Given the description of an element on the screen output the (x, y) to click on. 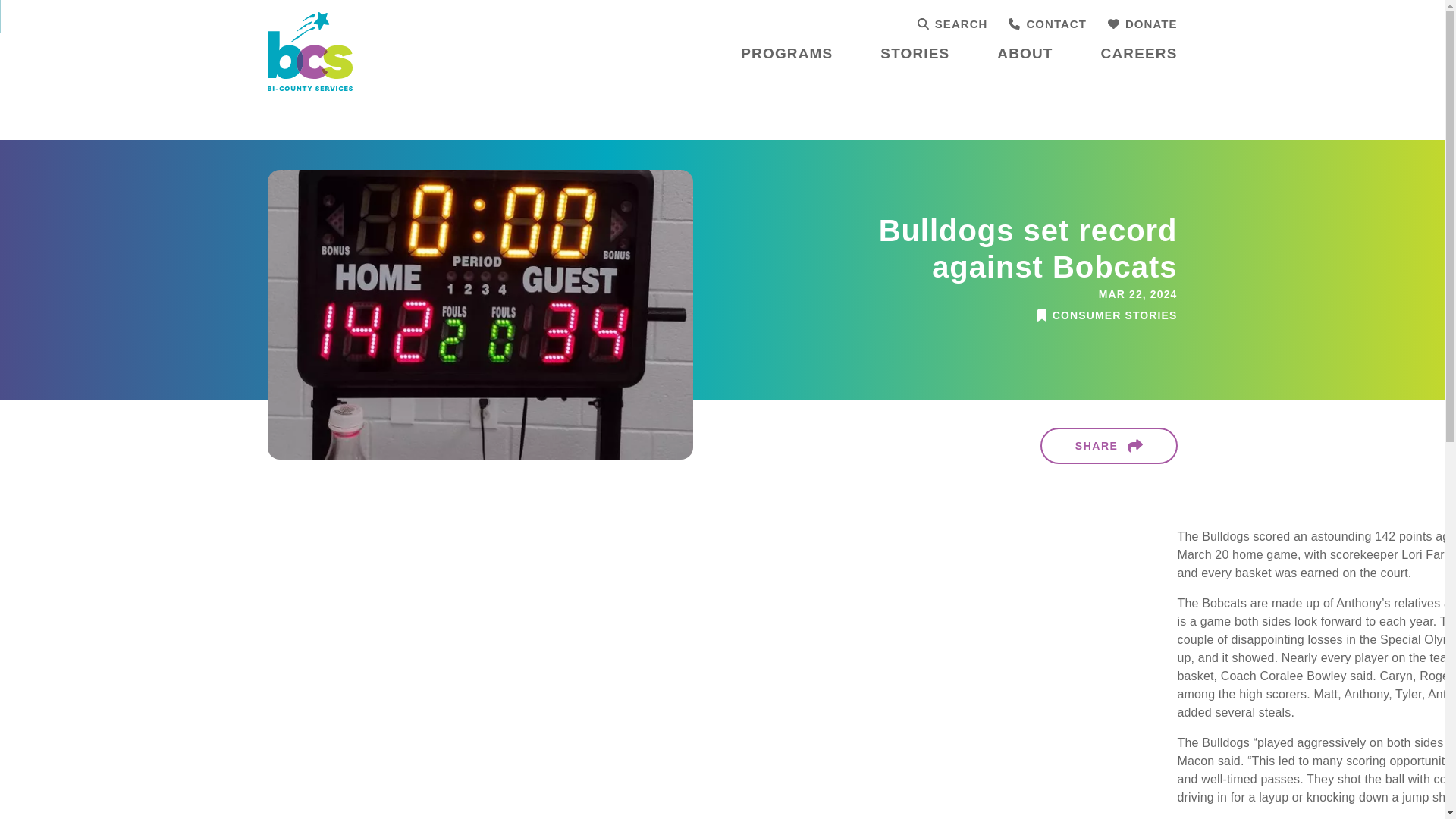
PROGRAMS (786, 54)
CAREERS (1138, 54)
ABOUT (1024, 54)
CONTACT (1047, 24)
STORIES (914, 54)
SEARCH (952, 24)
DONATE (1142, 24)
